Given the description of an element on the screen output the (x, y) to click on. 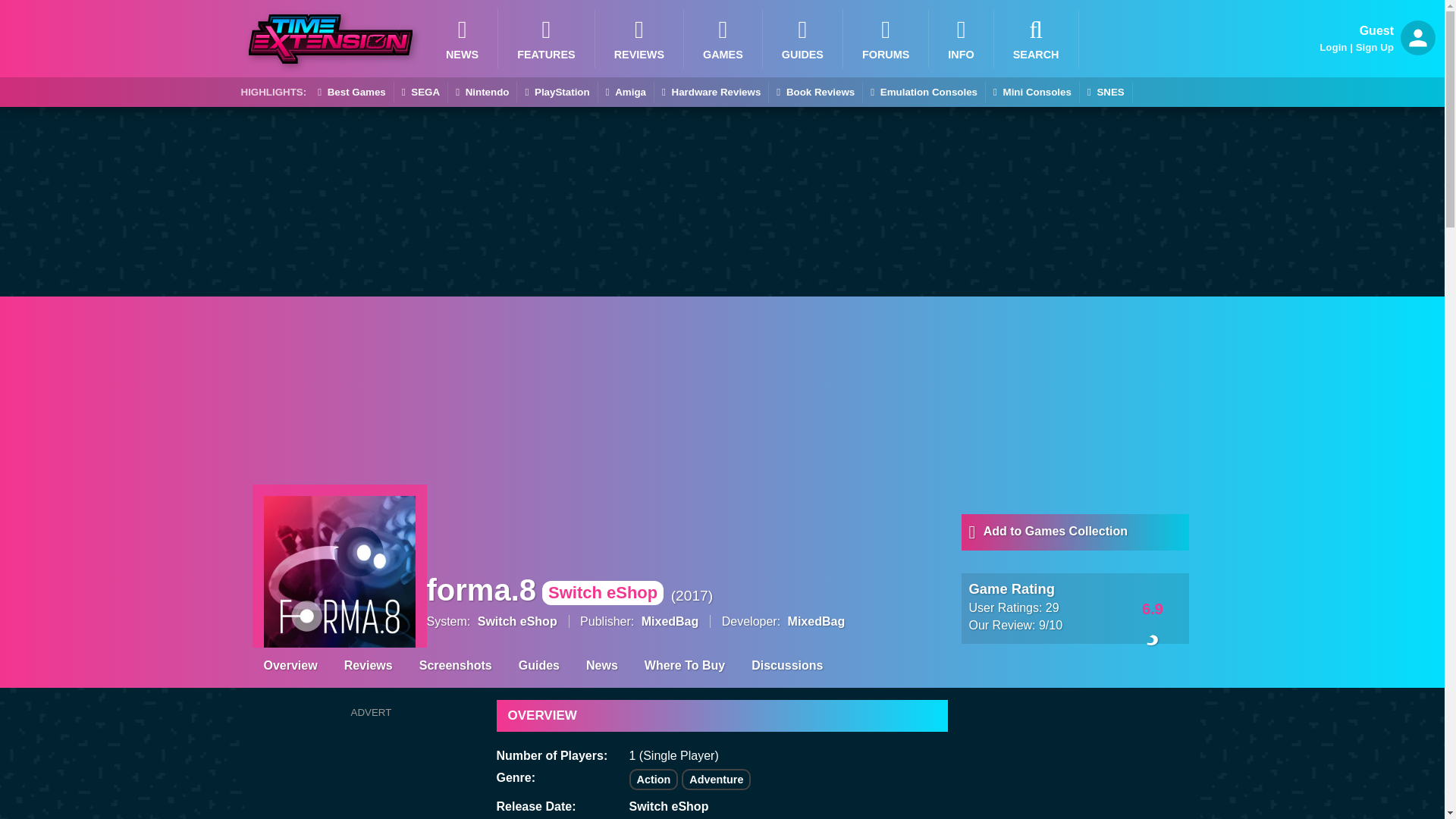
Home (960, 38)
SEGA (420, 91)
Amiga (625, 91)
Sign Up (1374, 47)
Best Games (351, 91)
Hardware Reviews (710, 91)
Book Reviews (814, 91)
PlayStation (556, 91)
NEWS (461, 38)
Time Extension (330, 38)
Mini Consoles (1031, 91)
Login (1332, 47)
FEATURES (546, 38)
Nintendo (482, 91)
Time Extension (330, 38)
